Given the description of an element on the screen output the (x, y) to click on. 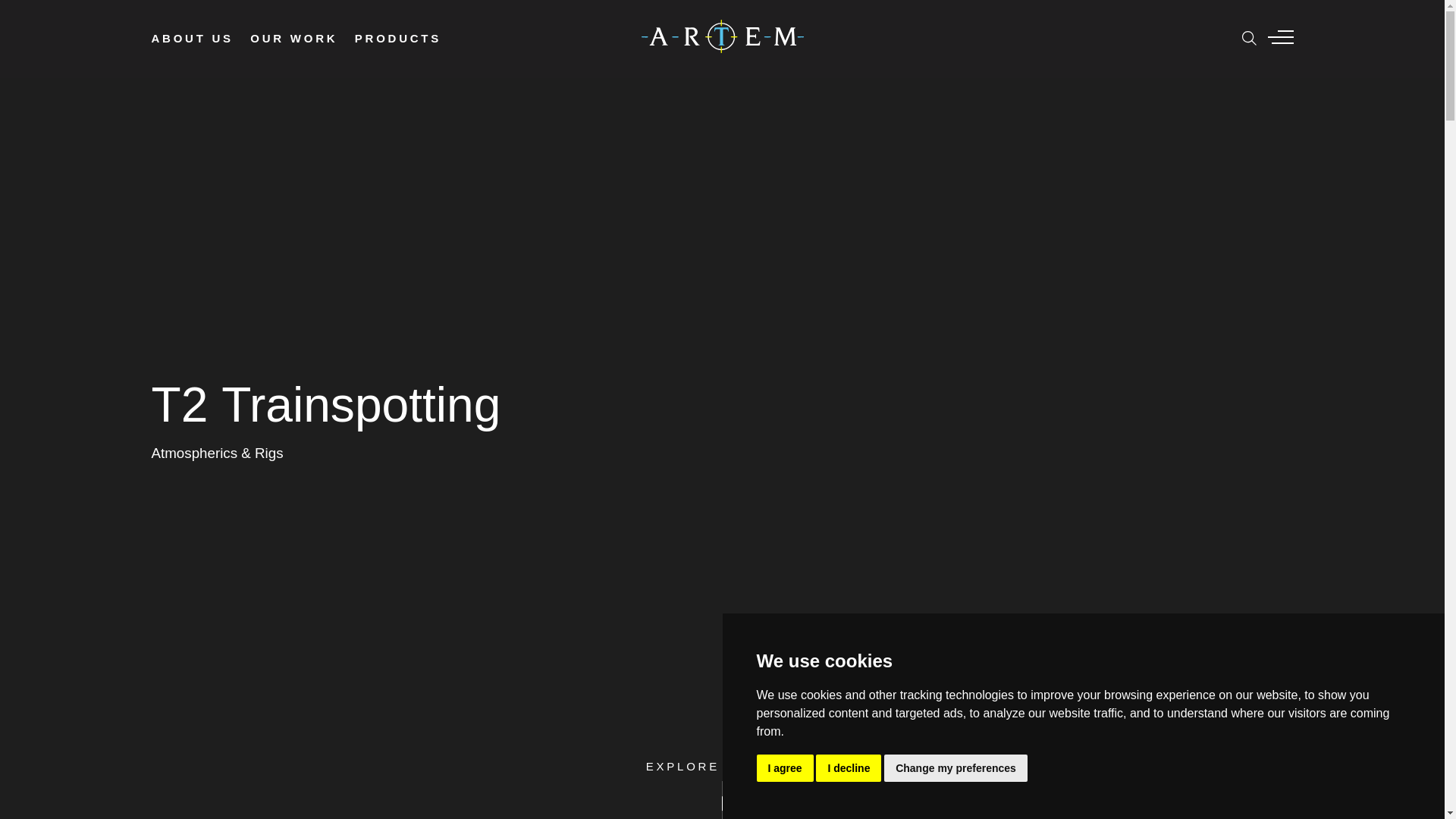
PRODUCTS (406, 38)
I decline (847, 768)
ABOUT US (200, 38)
Change my preferences (955, 768)
OUR WORK (302, 38)
I agree (785, 768)
